Given the description of an element on the screen output the (x, y) to click on. 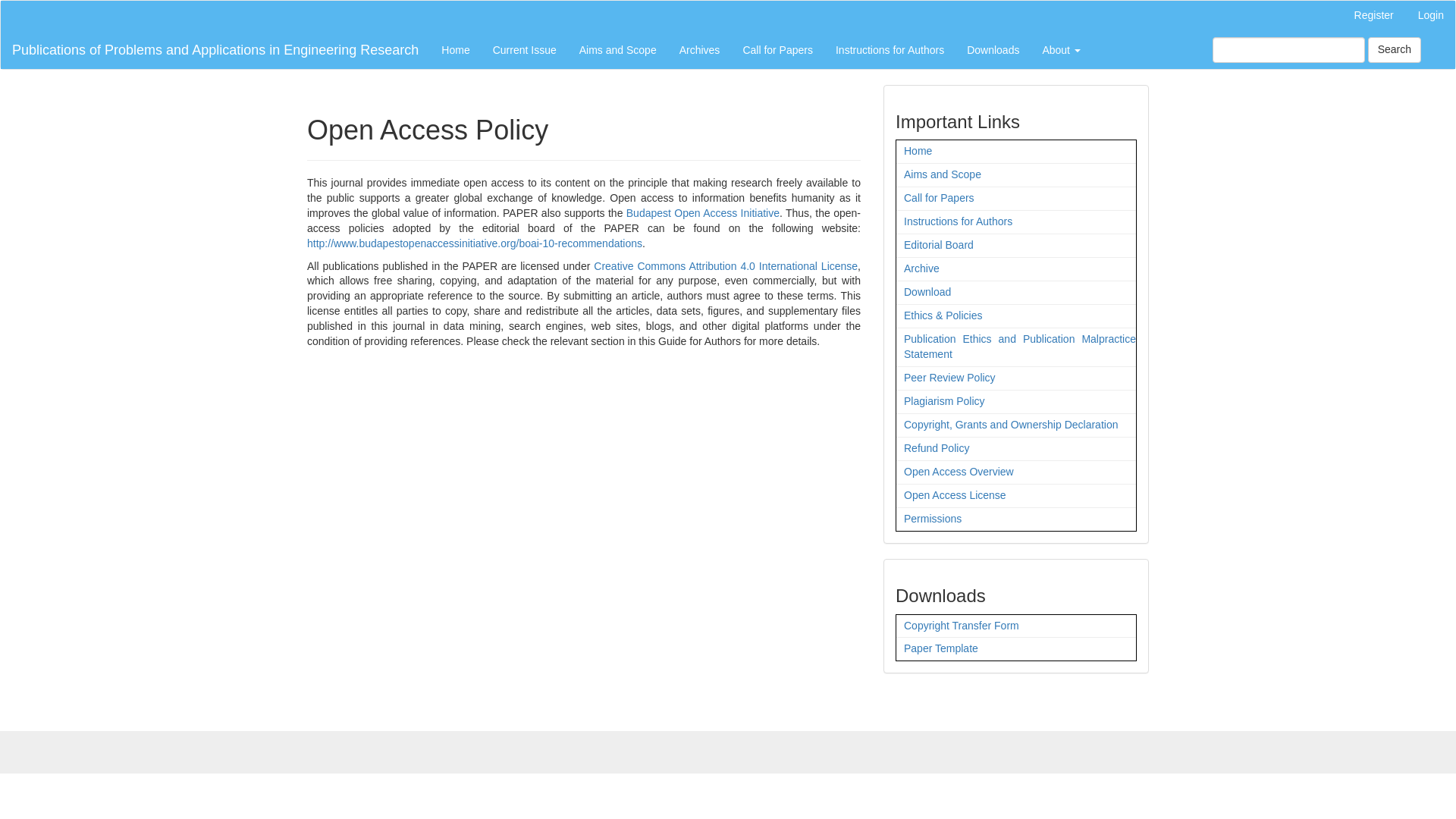
Register (1373, 15)
Editorial Board (939, 244)
Publication Ethics and Publication Malpractice Statement (1019, 346)
About (1060, 49)
Archive (921, 268)
Aims and Scope (942, 174)
Copyright Transfer Form (961, 624)
Downloads (992, 49)
Home (917, 150)
Budapest Open Access Initiative (702, 213)
Instructions for Authors (957, 221)
Aims and Scope (617, 49)
Plagiarism Policy (944, 400)
Instructions for Authors (889, 49)
Archives (700, 49)
